Given the description of an element on the screen output the (x, y) to click on. 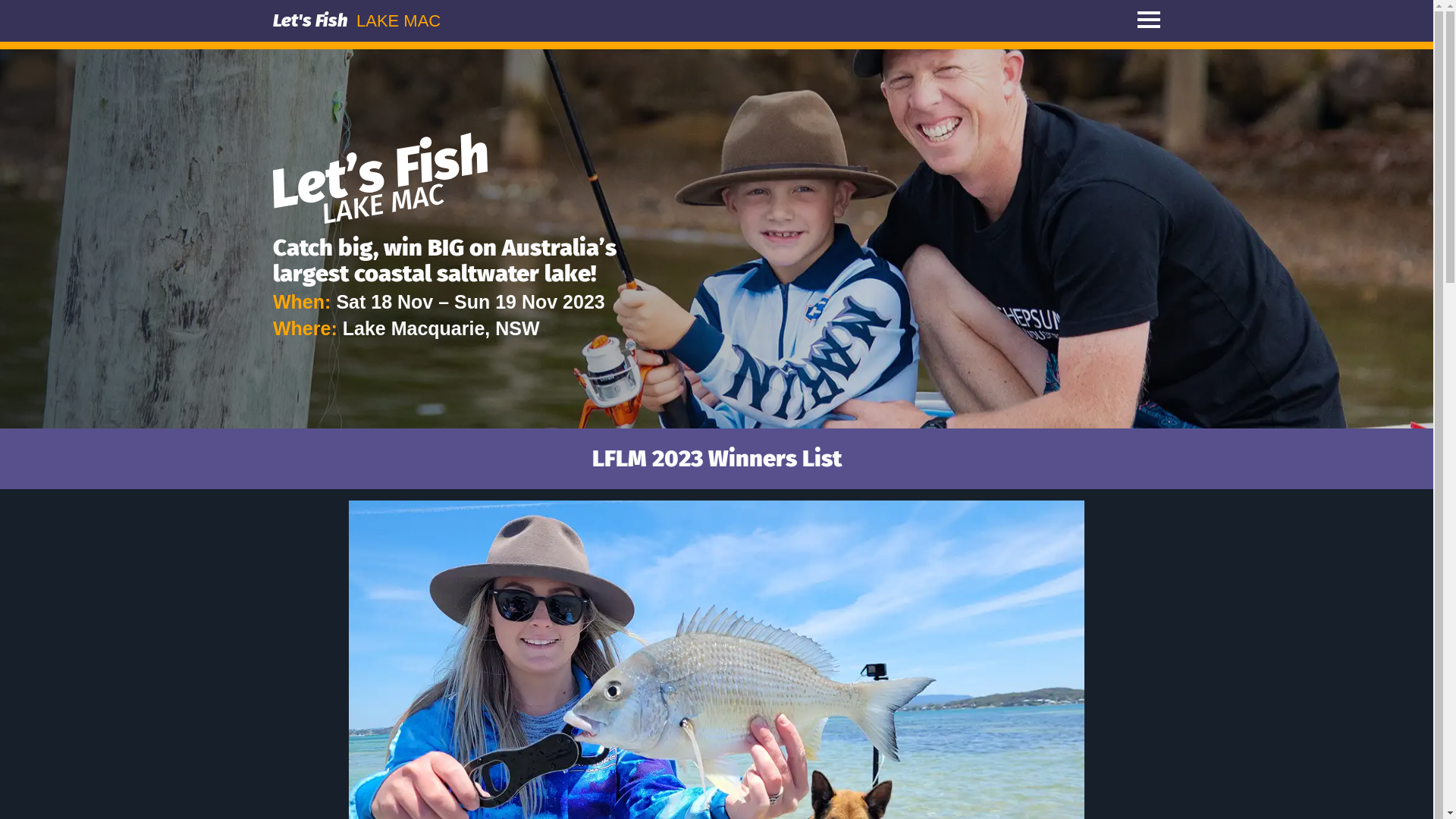
LFLM 2023 Winners List Element type: text (715, 458)
Let's Fish LAKE MAC Element type: text (564, 20)
